Given the description of an element on the screen output the (x, y) to click on. 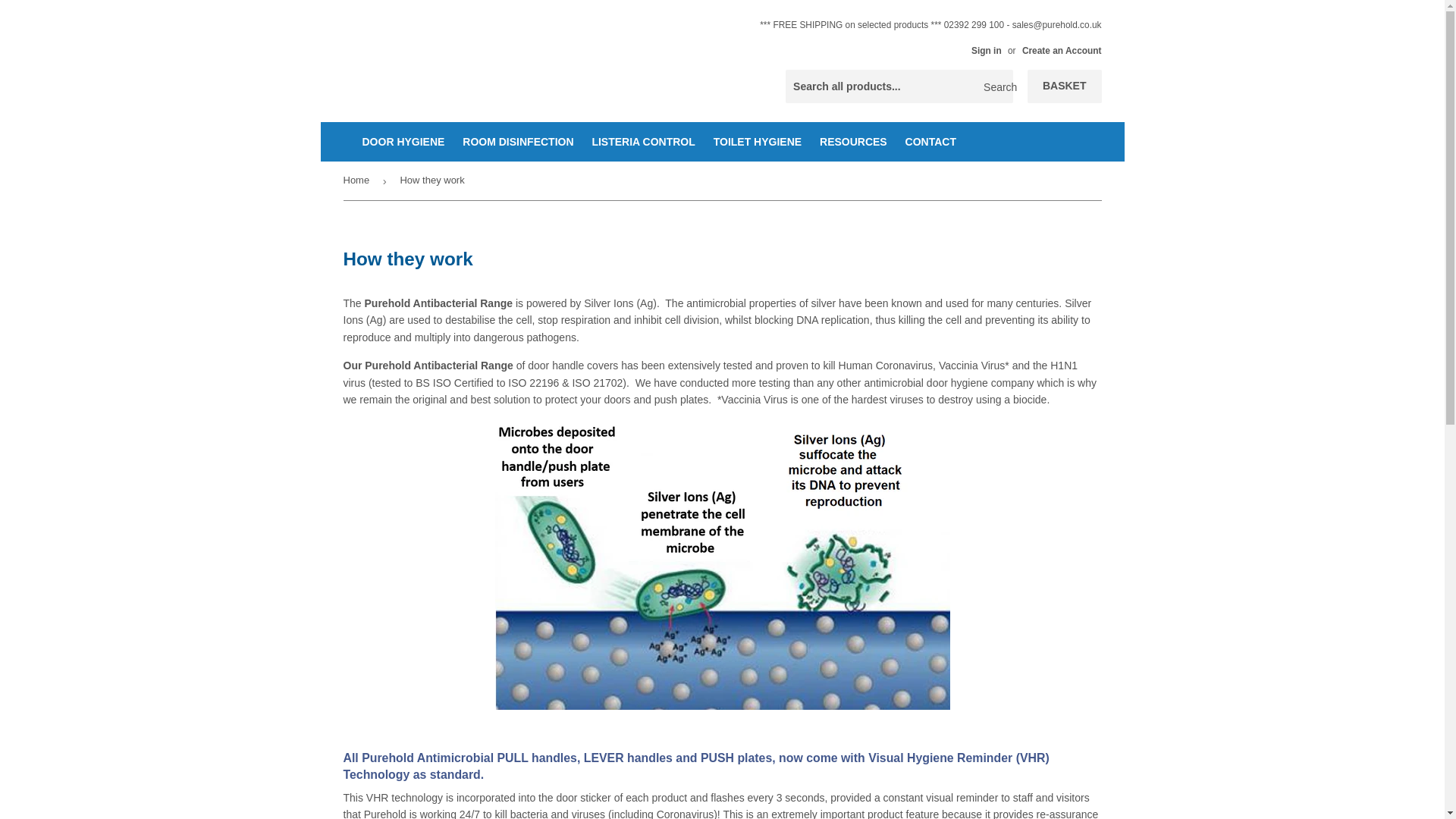
Sign in (986, 50)
Create an Account (1062, 50)
DOOR HYGIENE (403, 141)
BASKET (1064, 86)
Search (995, 87)
